Given the description of an element on the screen output the (x, y) to click on. 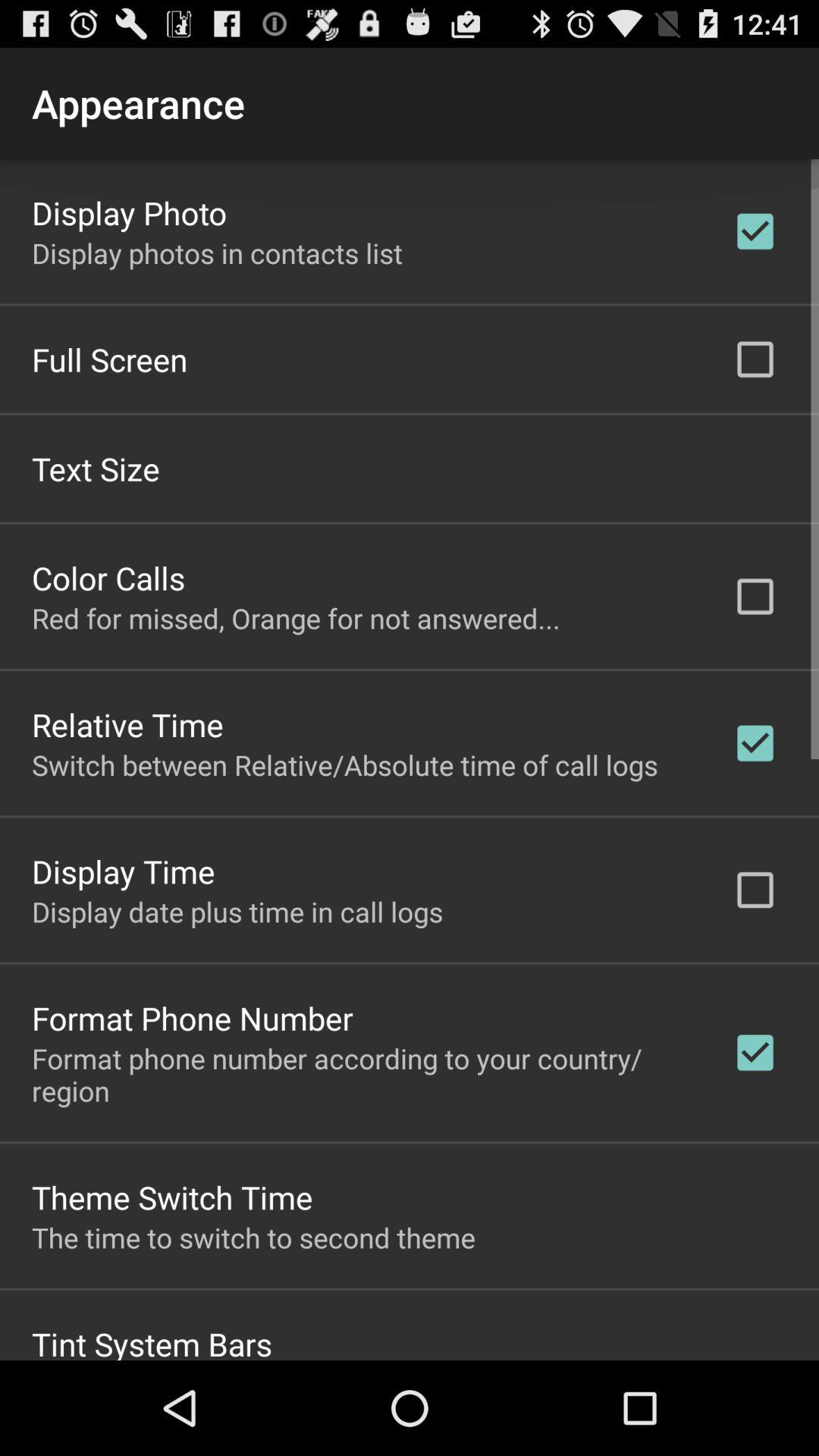
turn off the app below the time to (151, 1340)
